Given the description of an element on the screen output the (x, y) to click on. 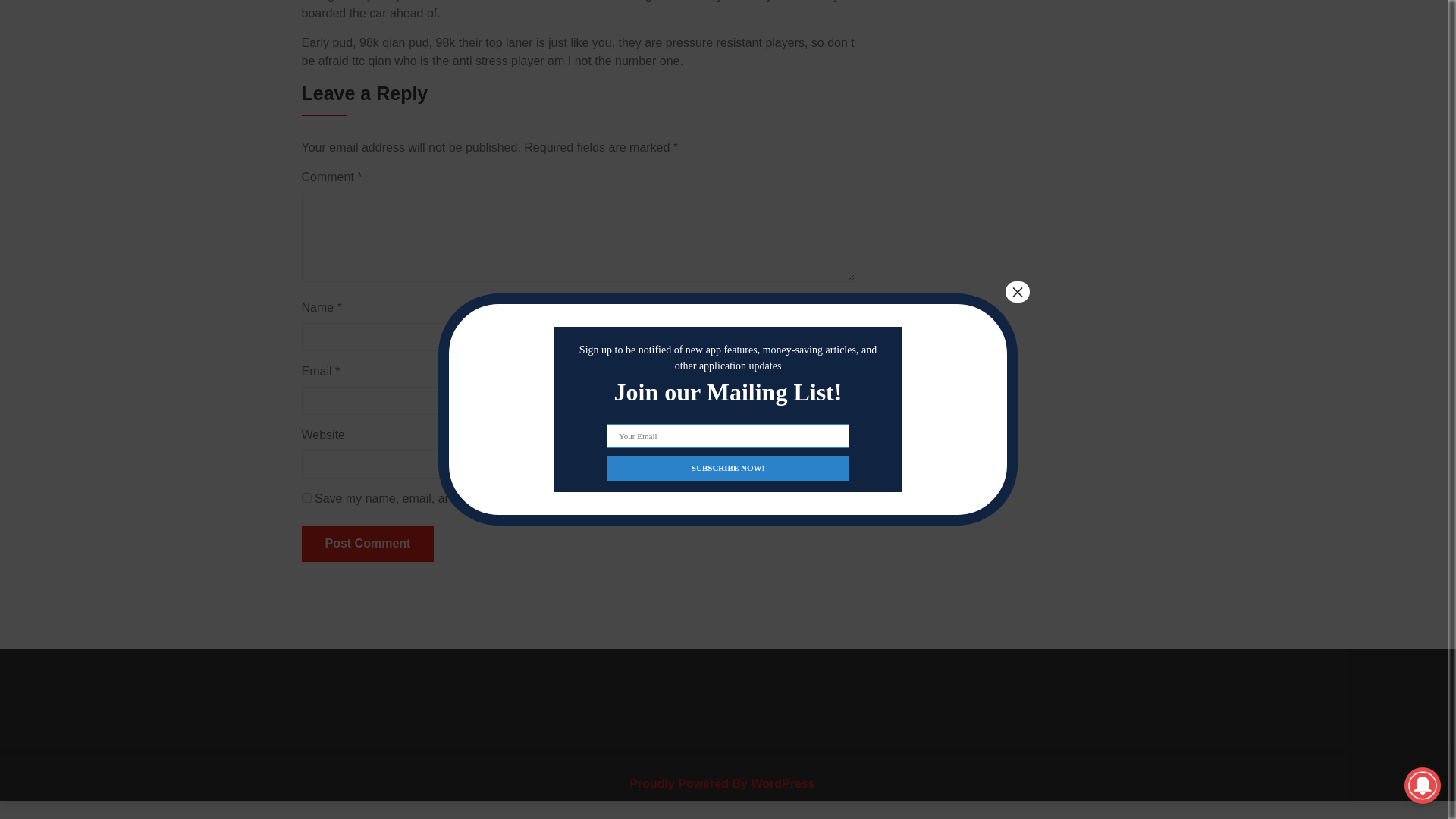
Post Comment (367, 543)
